Given the description of an element on the screen output the (x, y) to click on. 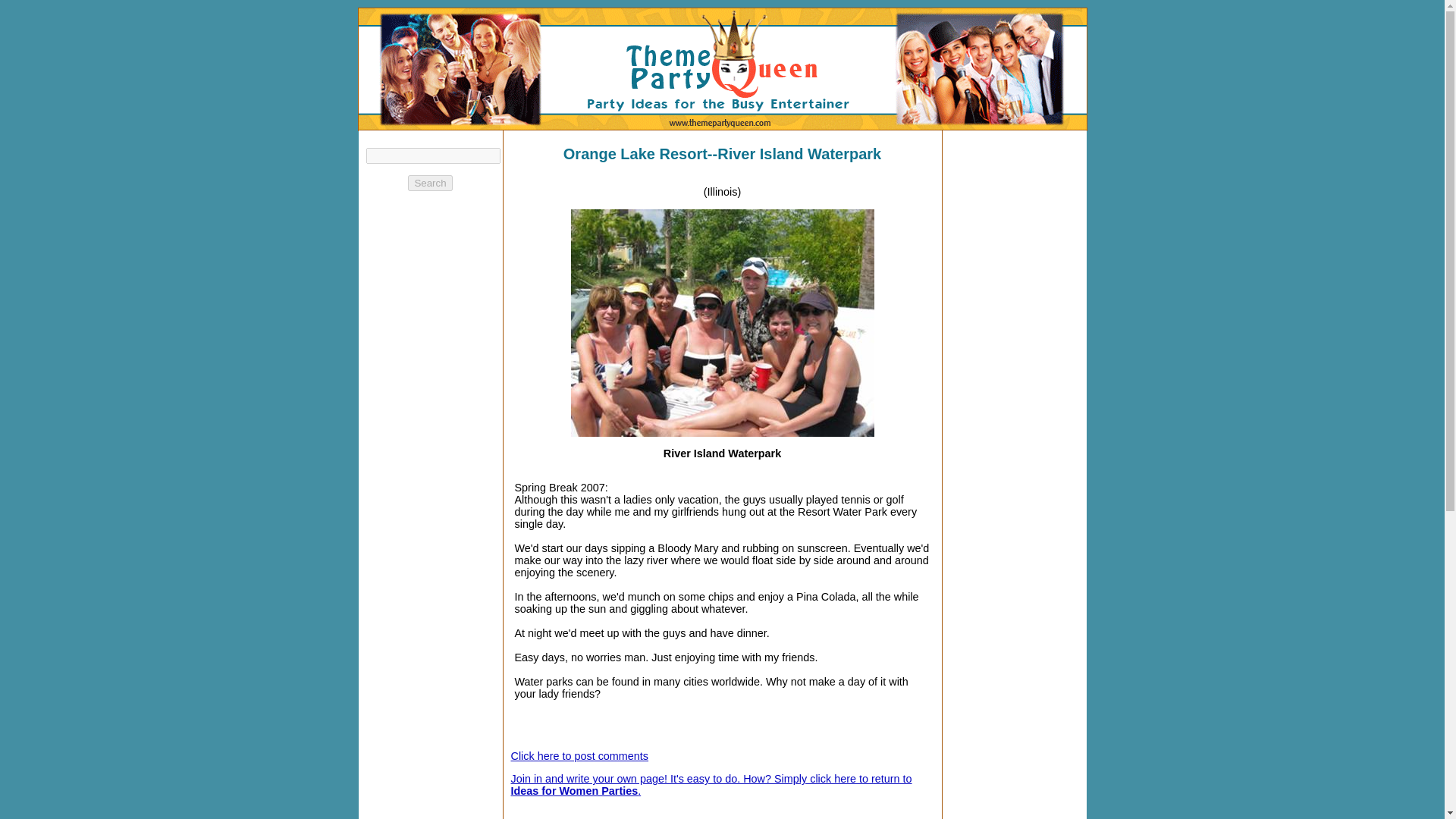
Search (429, 182)
Search (429, 182)
River Island Waterpark (721, 322)
Advertisement (829, 813)
Click here to post comments (580, 756)
